Given the description of an element on the screen output the (x, y) to click on. 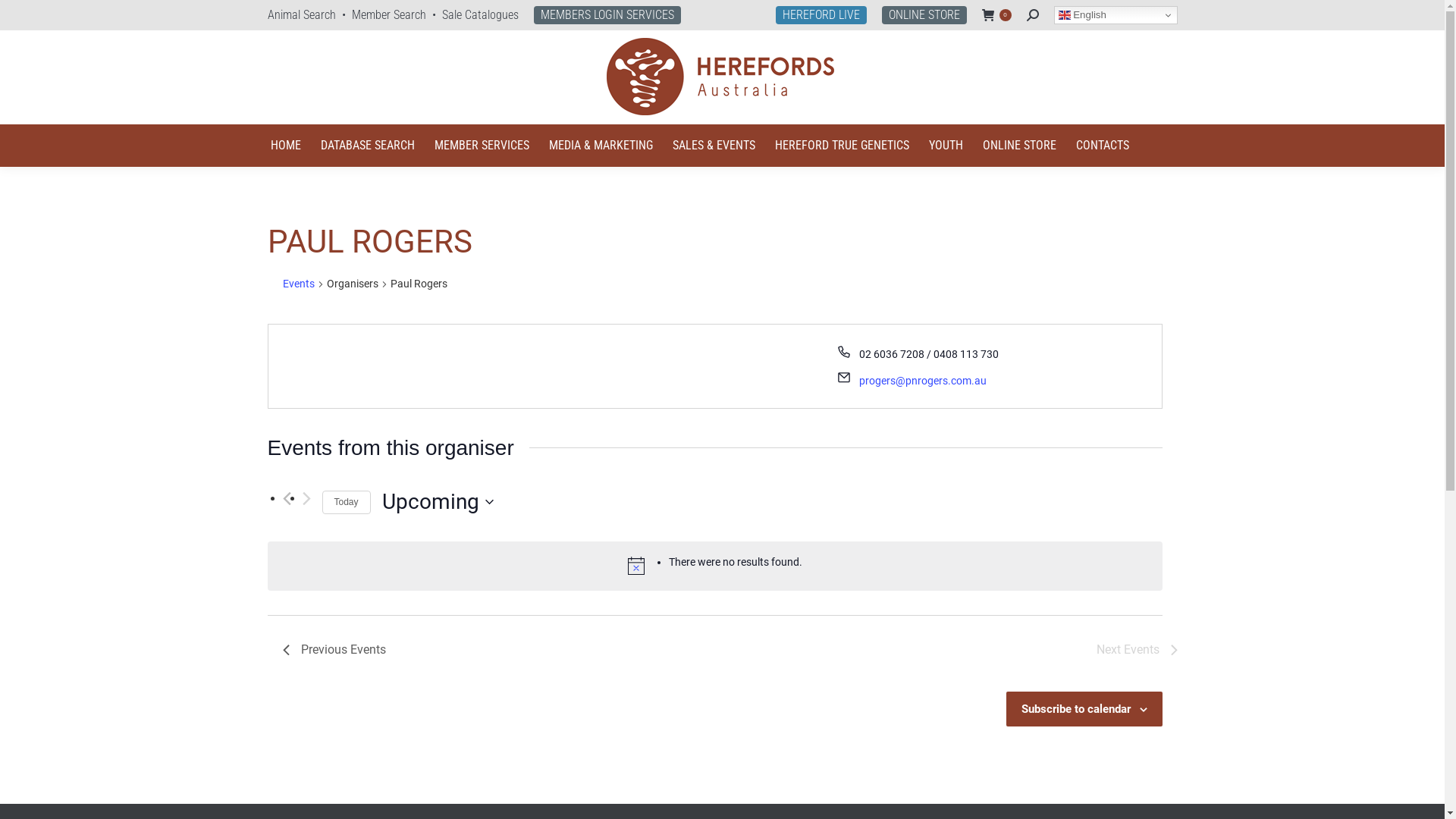
MEMBER SERVICES Element type: text (480, 145)
English Element type: text (1115, 15)
Previous Events Element type: hover (286, 498)
ONLINE STORE Element type: text (1019, 145)
HEREFORD TRUE GENETICS Element type: text (841, 145)
MEDIA & MARKETING Element type: text (600, 145)
Events Element type: text (297, 284)
HOME Element type: text (284, 145)
ONLINE STORE Element type: text (923, 15)
SALES & EVENTS Element type: text (712, 145)
Today Element type: text (345, 502)
progers@pnrogers.com.au Element type: text (922, 381)
 0 Element type: text (996, 14)
YOUTH Element type: text (945, 145)
Animal Search Element type: text (300, 14)
Upcoming Element type: text (437, 501)
Previous Events Element type: text (333, 649)
DATABASE SEARCH Element type: text (366, 145)
Member Search Element type: text (388, 14)
Sale Catalogues Element type: text (479, 14)
Subscribe to calendar Element type: text (1074, 708)
Next Events Element type: text (1136, 649)
Next Events Element type: hover (305, 498)
HEREFORD LIVE Element type: text (820, 15)
Go! Element type: text (24, 16)
CONTACTS Element type: text (1101, 145)
MEMBERS LOGIN SERVICES Element type: text (606, 15)
